Given the description of an element on the screen output the (x, y) to click on. 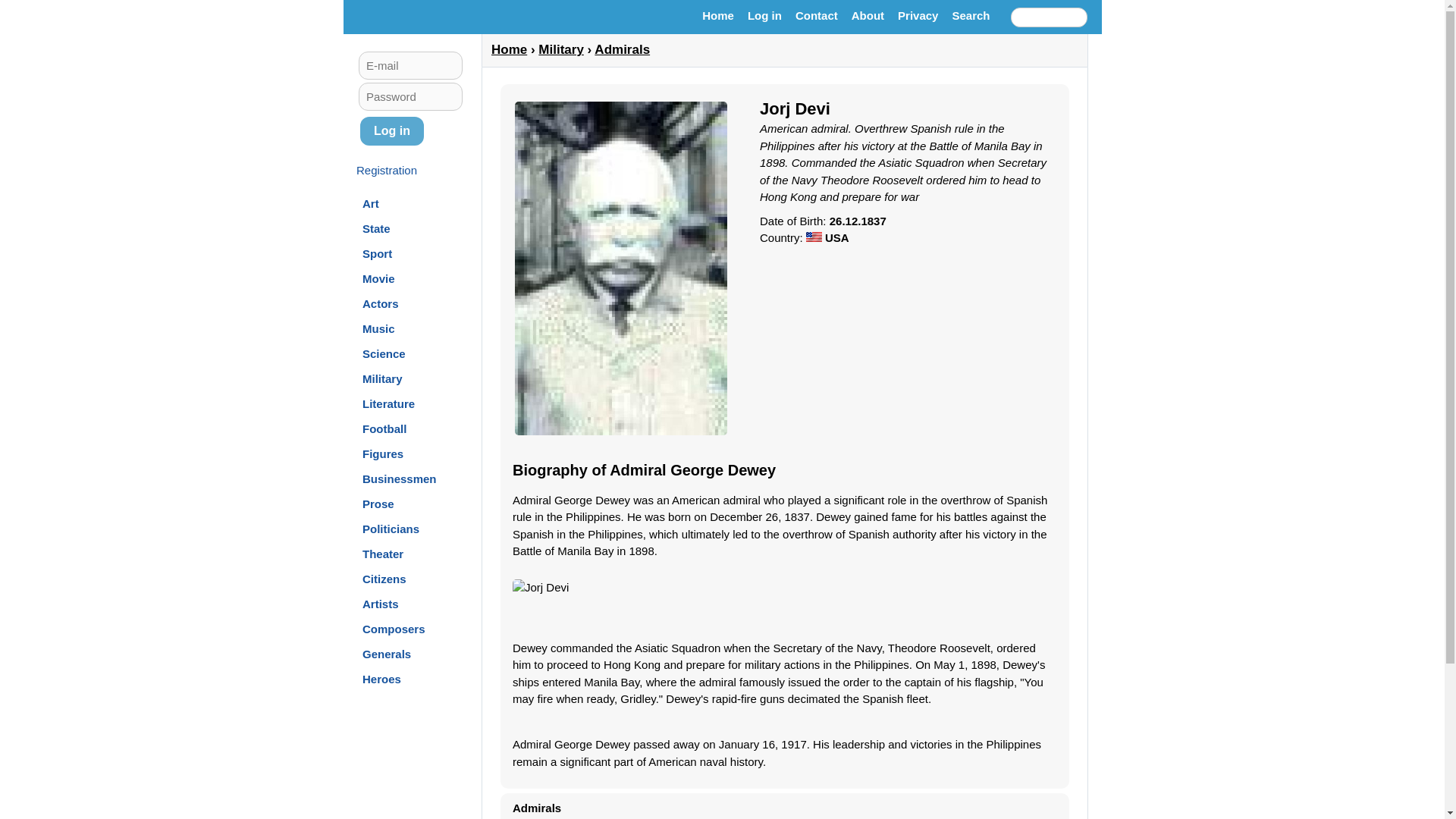
Generals (386, 653)
Movie (378, 277)
Admirals (621, 49)
Search (969, 15)
Log in (391, 131)
Artists (380, 603)
Military (560, 49)
Football (384, 427)
Military (382, 377)
Figures (382, 453)
Businessmen (399, 477)
About (867, 15)
Citizens (384, 577)
Science (384, 353)
Music (378, 327)
